Given the description of an element on the screen output the (x, y) to click on. 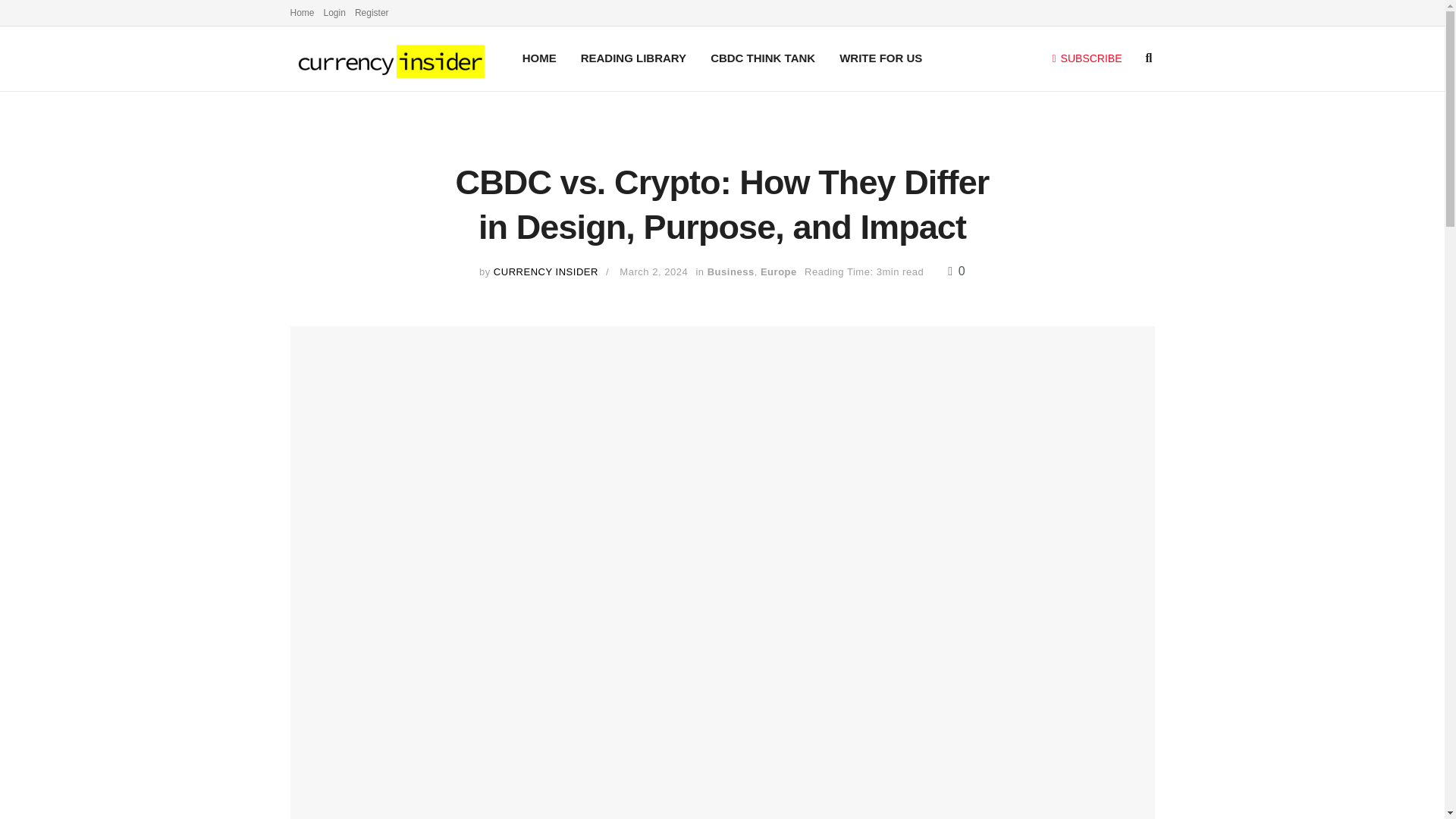
SUBSCRIBE (1087, 58)
HOME (540, 57)
March 2, 2024 (653, 271)
Home (301, 12)
0 (956, 270)
Register (371, 12)
Europe (778, 271)
CURRENCY INSIDER (545, 271)
Business (730, 271)
WRITE FOR US (880, 57)
